Given the description of an element on the screen output the (x, y) to click on. 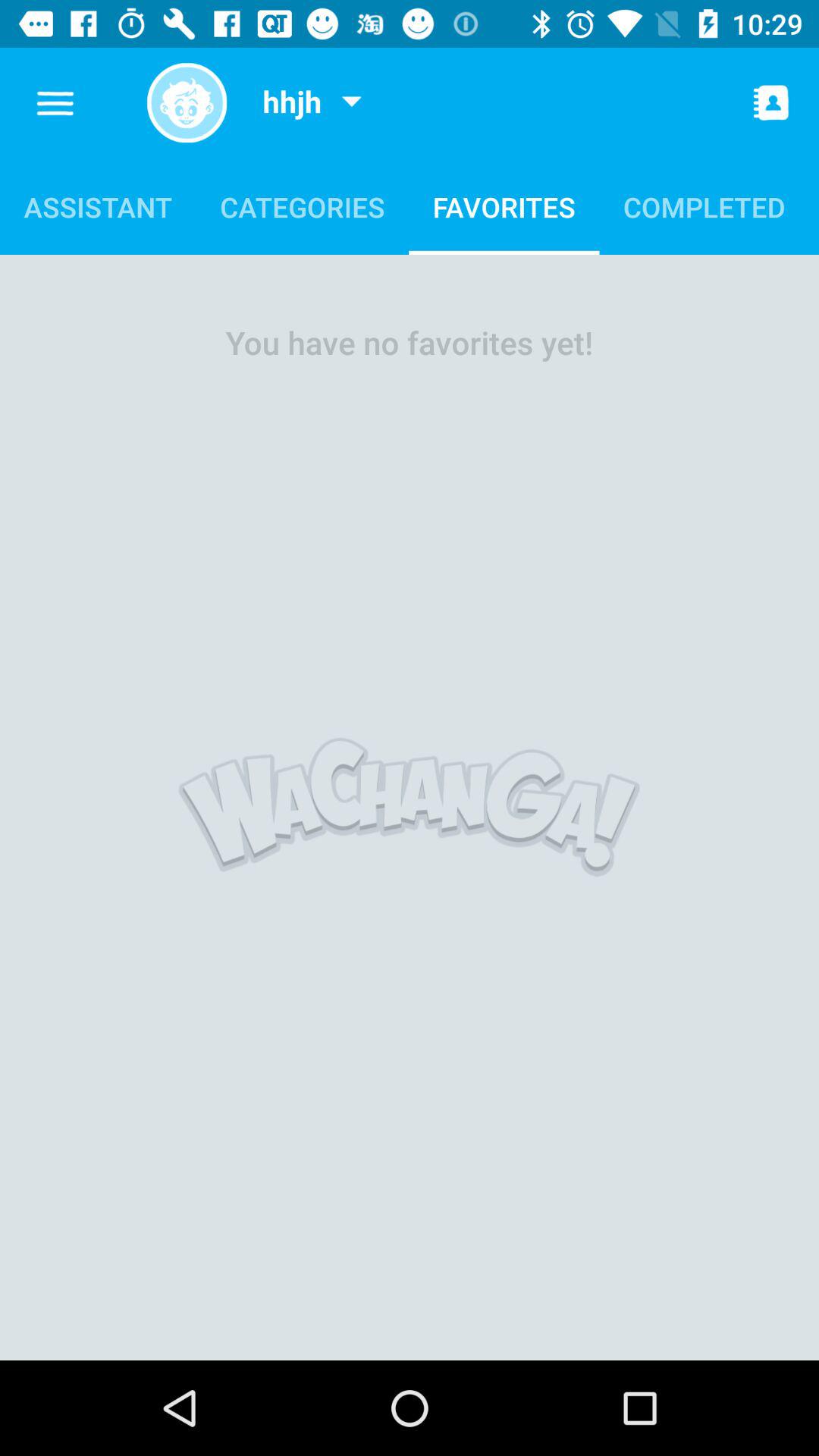
shows symbol icon (186, 102)
